Given the description of an element on the screen output the (x, y) to click on. 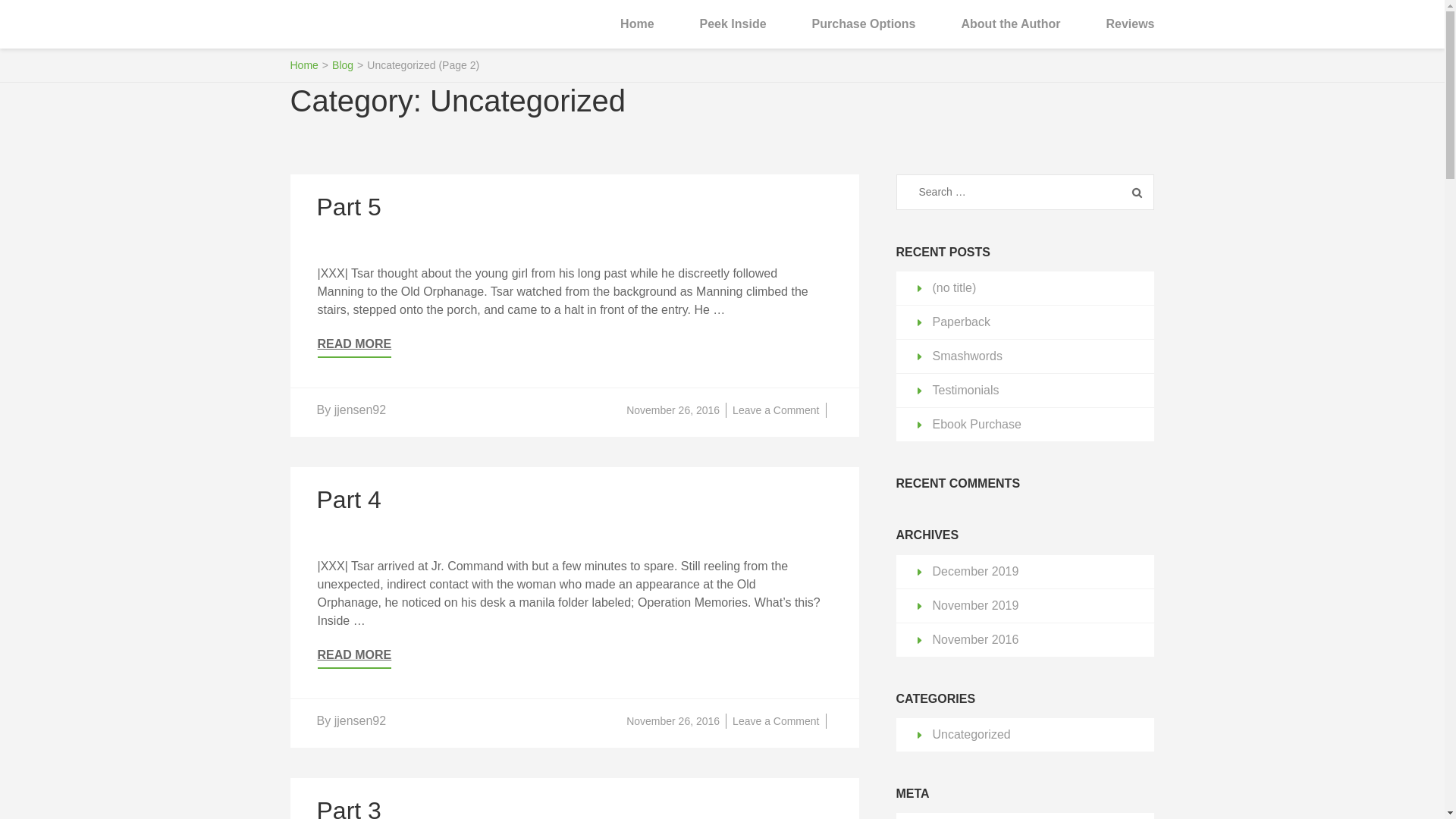
Purchase Options (863, 24)
About the Author (1010, 24)
Search (1136, 193)
Peek Inside (733, 24)
Home (303, 64)
WHEN GOOD MEN (775, 410)
November 26, 2016 (370, 34)
READ MORE (672, 410)
Blog (354, 658)
Part 5 (342, 64)
Search (349, 206)
Reviews (1136, 193)
Home (1129, 24)
